Given the description of an element on the screen output the (x, y) to click on. 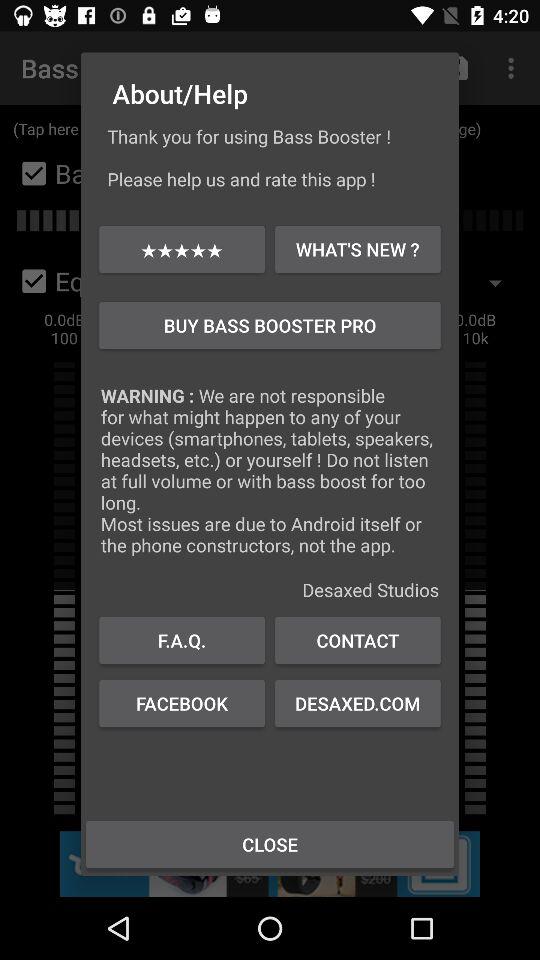
select item above facebook item (182, 639)
